Given the description of an element on the screen output the (x, y) to click on. 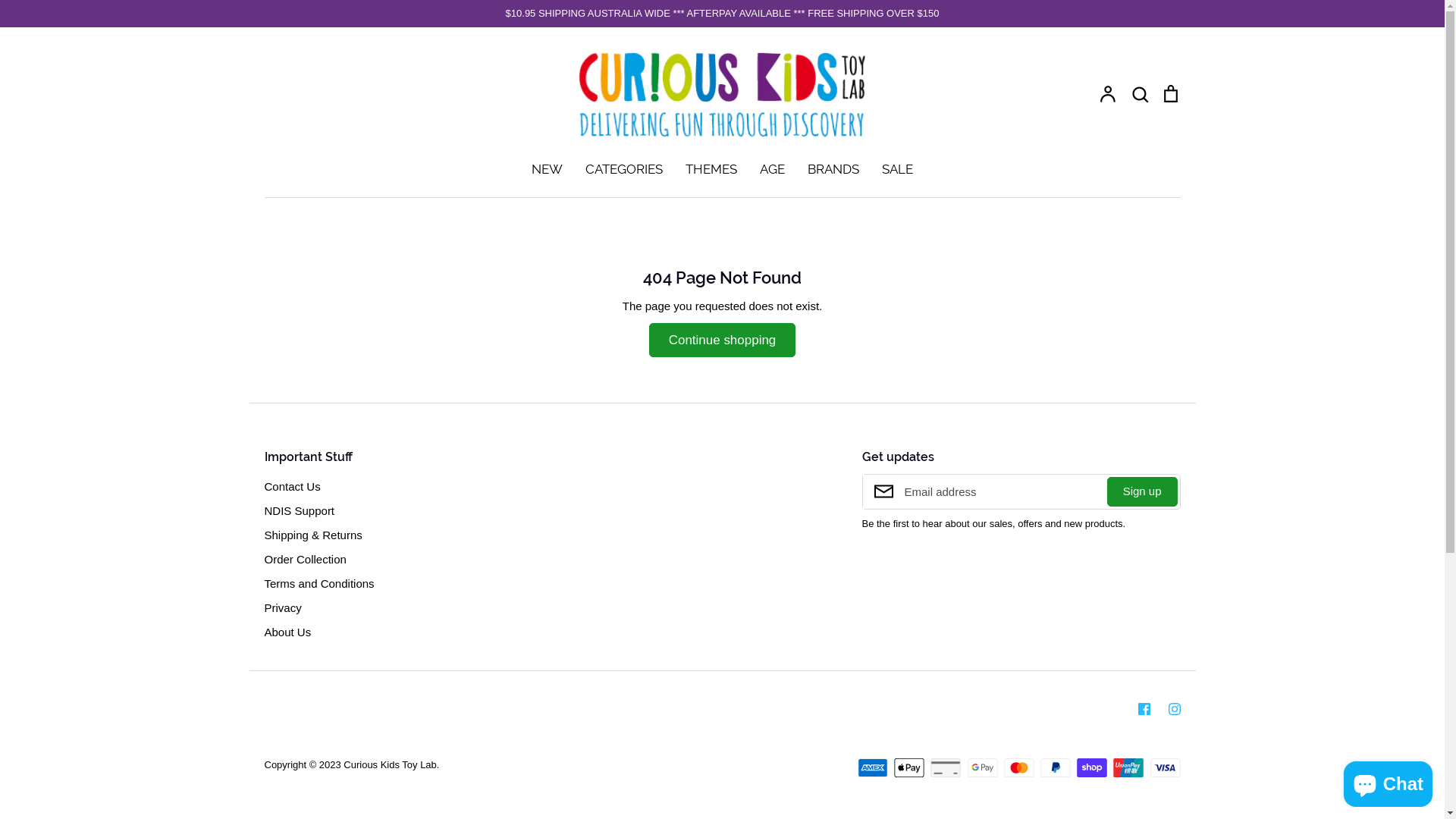
Shopify online store chat Element type: hover (1388, 780)
Order Collection Element type: text (304, 559)
CATEGORIES Element type: text (623, 168)
THEMES Element type: text (711, 168)
About Us Element type: text (286, 632)
Sign up Element type: text (1142, 491)
NDIS Support Element type: text (298, 511)
Account Element type: text (1108, 92)
Terms and Conditions Element type: text (318, 583)
Privacy Element type: text (282, 608)
SALE Element type: text (897, 168)
Continue shopping Element type: text (722, 340)
Cart Element type: text (1170, 92)
Curious Kids Toy Lab Element type: text (389, 764)
Search Element type: text (1139, 92)
NEW Element type: text (546, 168)
BRANDS Element type: text (833, 168)
Contact Us Element type: text (291, 486)
Shipping & Returns Element type: text (312, 535)
AGE Element type: text (771, 168)
